Given the description of an element on the screen output the (x, y) to click on. 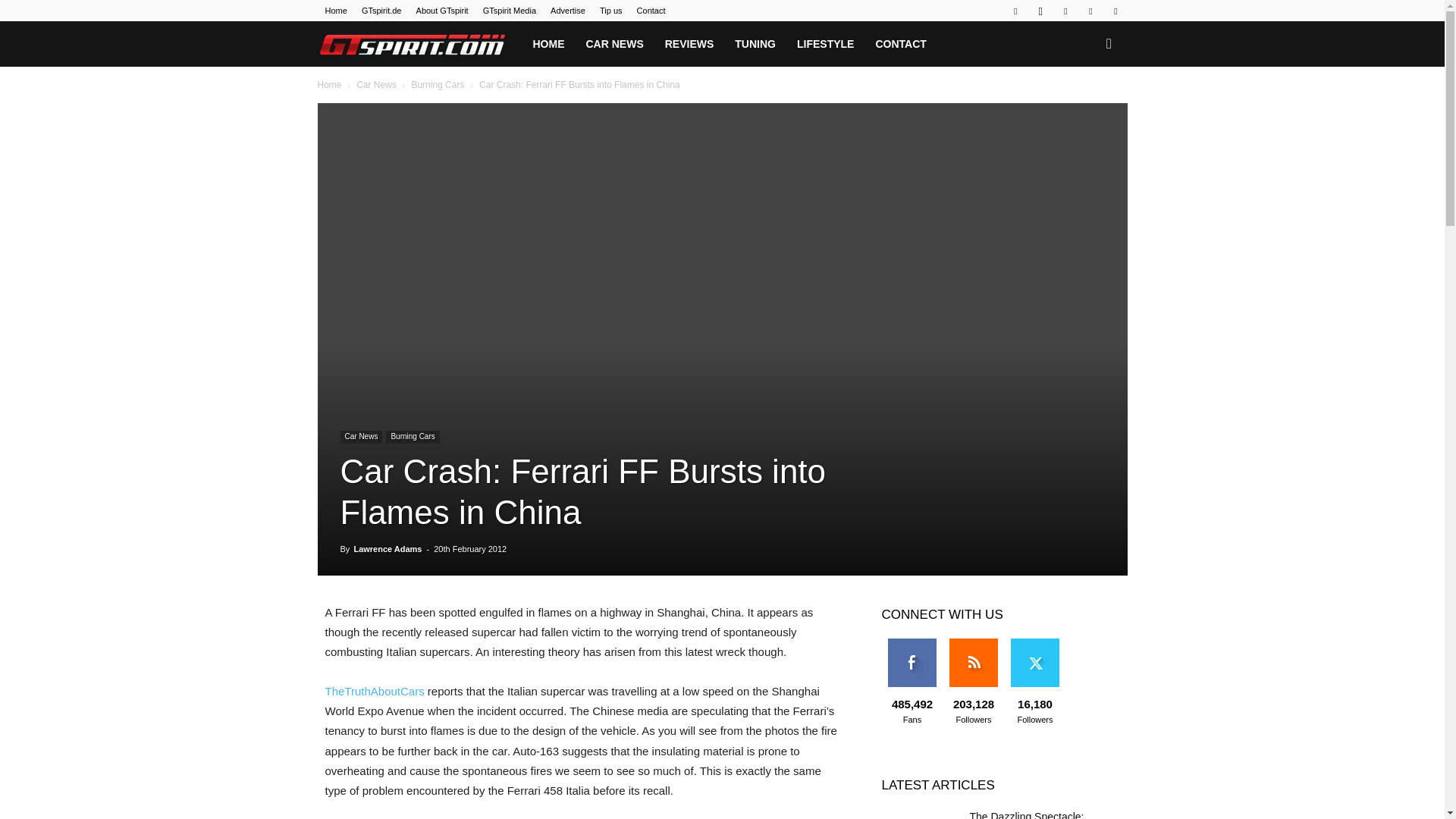
GTspirit.de (381, 10)
Tip us (611, 10)
LIFESTYLE (825, 43)
HOME (548, 43)
Contact (651, 10)
View all posts in Burning Cars (437, 84)
Home (335, 10)
Advertise (567, 10)
Youtube (1114, 10)
About GTspirit (442, 10)
